Given the description of an element on the screen output the (x, y) to click on. 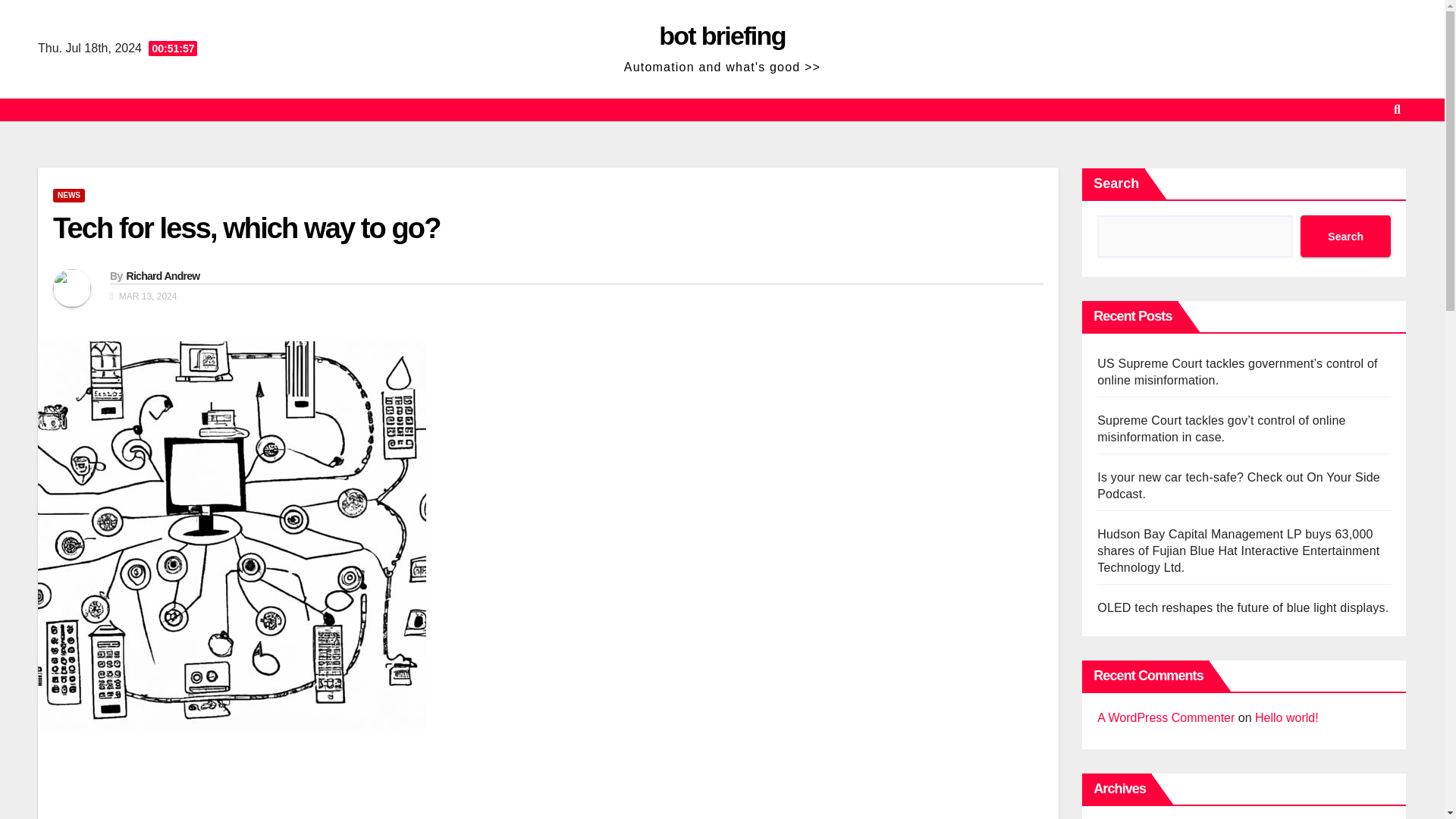
Permalink to: Tech for less, which way to go? (246, 228)
OLED tech reshapes the future of blue light displays. (1243, 607)
Tech for less, which way to go? (246, 228)
bot briefing (722, 35)
Search (1345, 236)
Is your new car tech-safe? Check out On Your Side Podcast. (1238, 485)
Richard Andrew (162, 275)
NEWS (68, 195)
A WordPress Commenter (1165, 717)
